Given the description of an element on the screen output the (x, y) to click on. 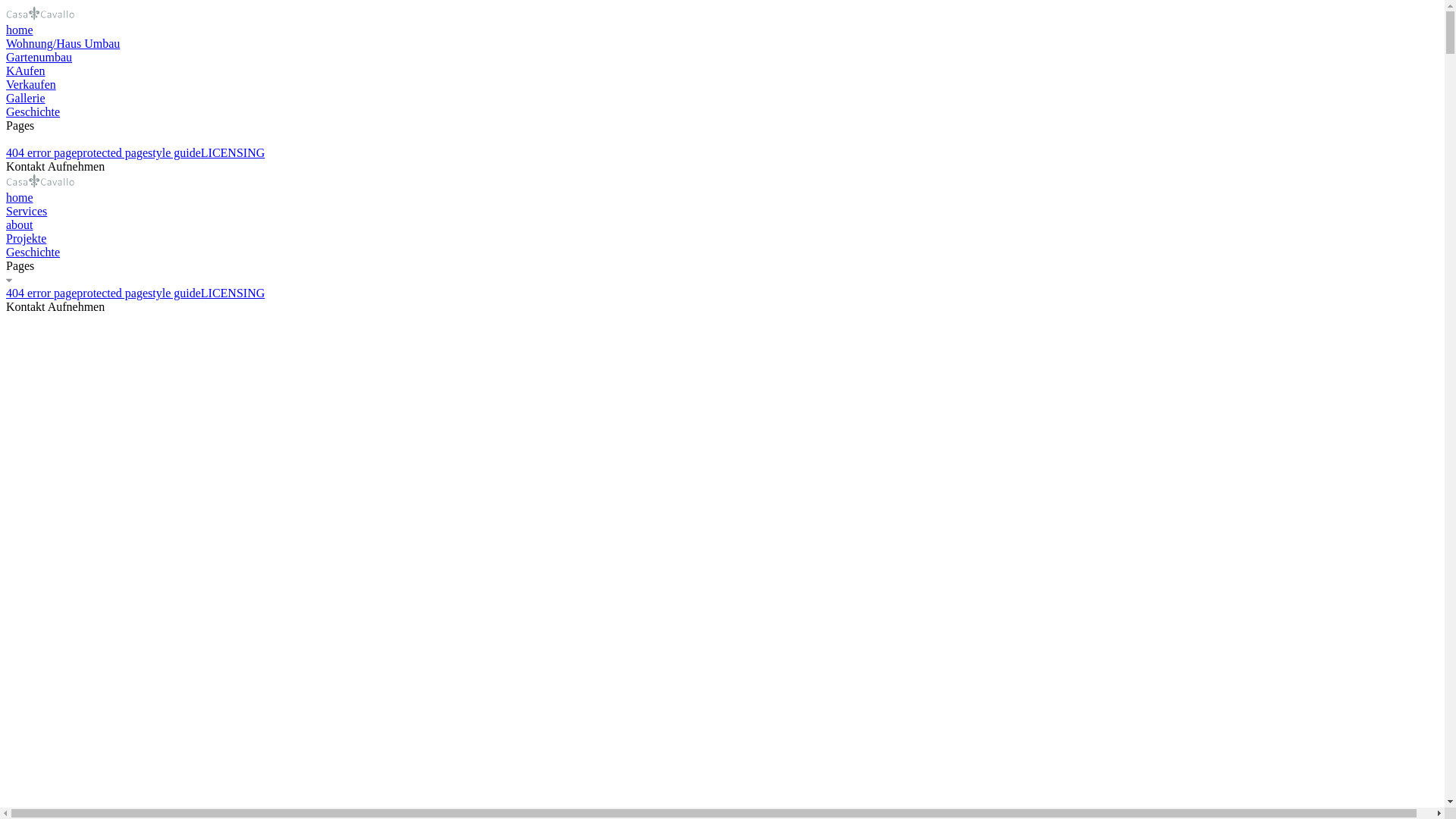
404 error page Element type: text (41, 152)
style guide Element type: text (173, 152)
Wohnung/Haus Umbau Element type: text (722, 43)
LICENSING Element type: text (232, 292)
about Element type: text (722, 225)
style guide Element type: text (173, 292)
404 error page Element type: text (41, 292)
LICENSING Element type: text (232, 152)
KAufen Element type: text (722, 71)
Projekte Element type: text (722, 238)
Geschichte Element type: text (722, 112)
home Element type: text (722, 30)
Gartenumbau Element type: text (722, 57)
Services Element type: text (722, 211)
protected page Element type: text (111, 292)
Verkaufen Element type: text (722, 84)
Gallerie Element type: text (722, 98)
Geschichte Element type: text (722, 252)
protected page Element type: text (111, 152)
home Element type: text (722, 197)
